Given the description of an element on the screen output the (x, y) to click on. 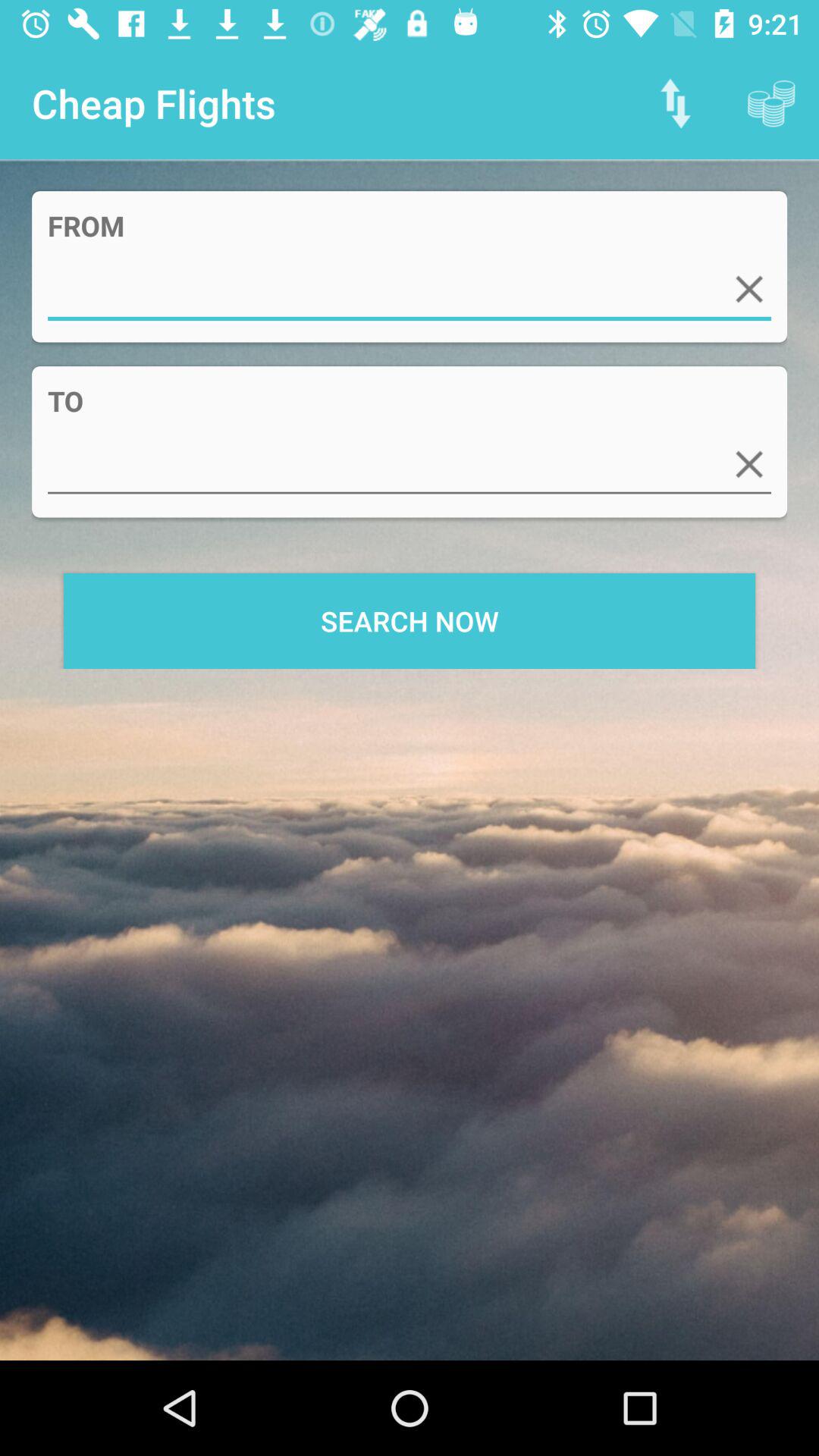
name button (409, 464)
